Given the description of an element on the screen output the (x, y) to click on. 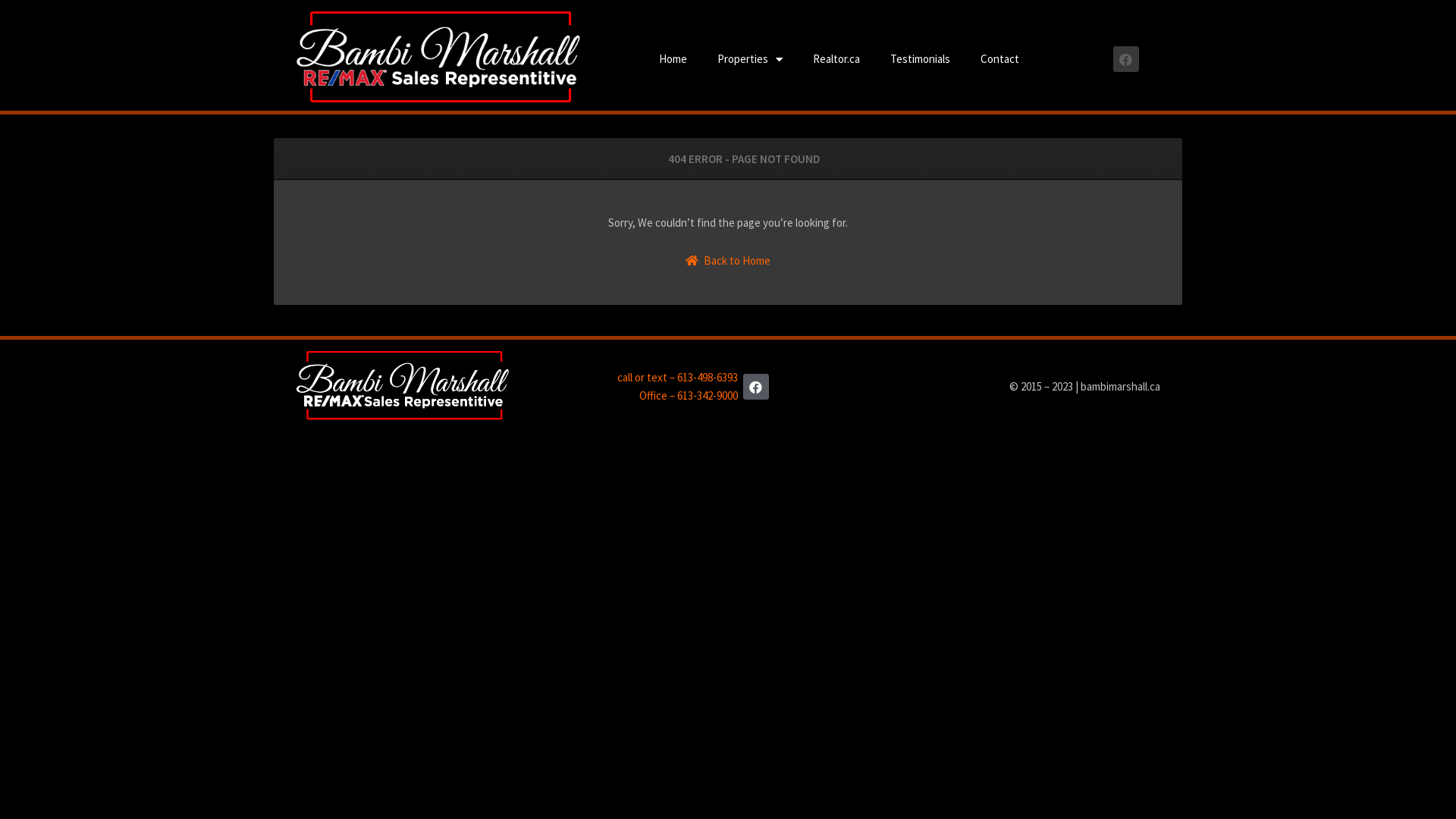
Realtor.ca Element type: text (836, 59)
Contact Element type: text (999, 59)
Testimonials Element type: text (920, 59)
Properties Element type: text (749, 59)
Back to Home Element type: text (727, 260)
Home Element type: text (672, 59)
